Given the description of an element on the screen output the (x, y) to click on. 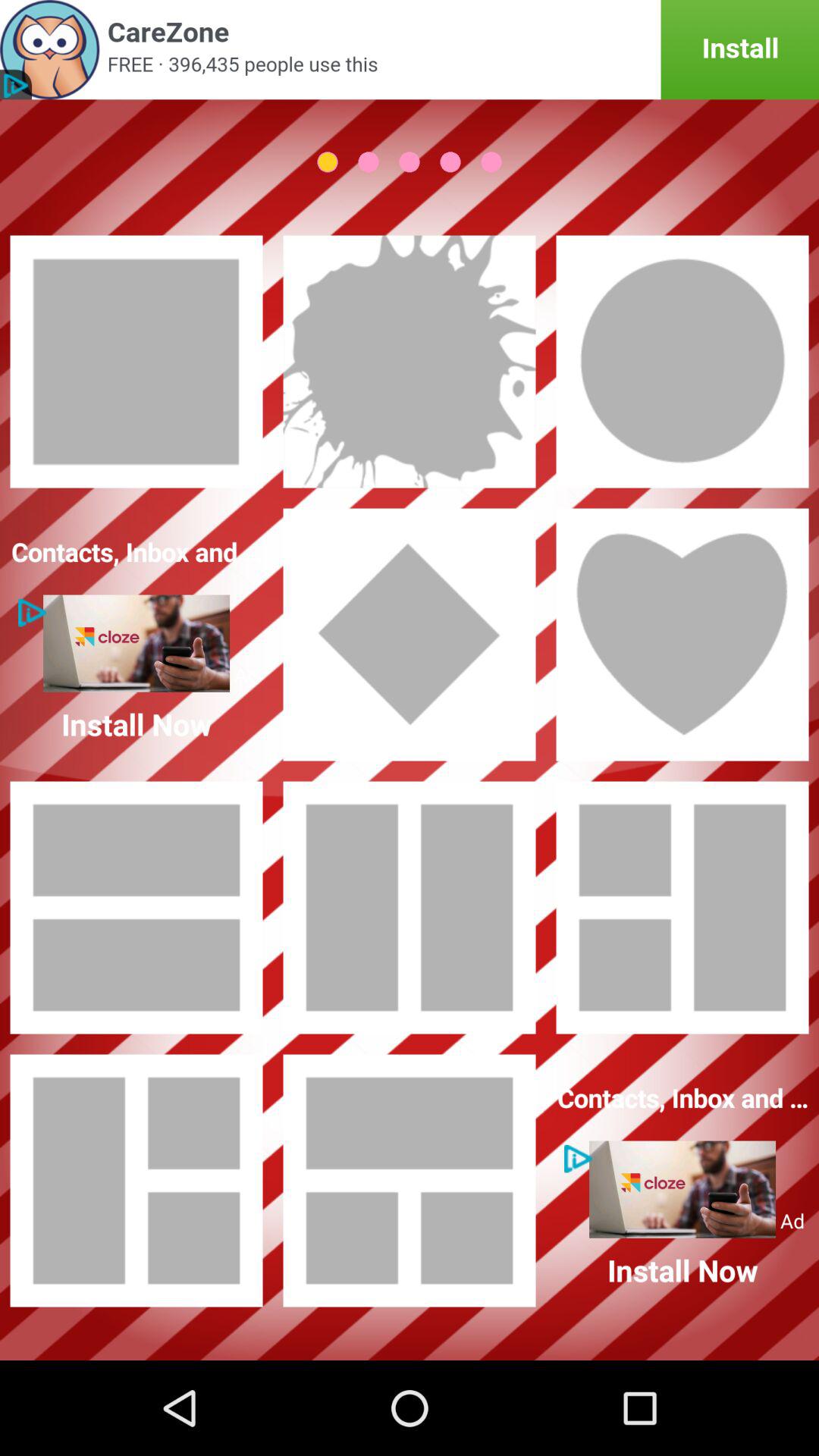
select to face (682, 361)
